Given the description of an element on the screen output the (x, y) to click on. 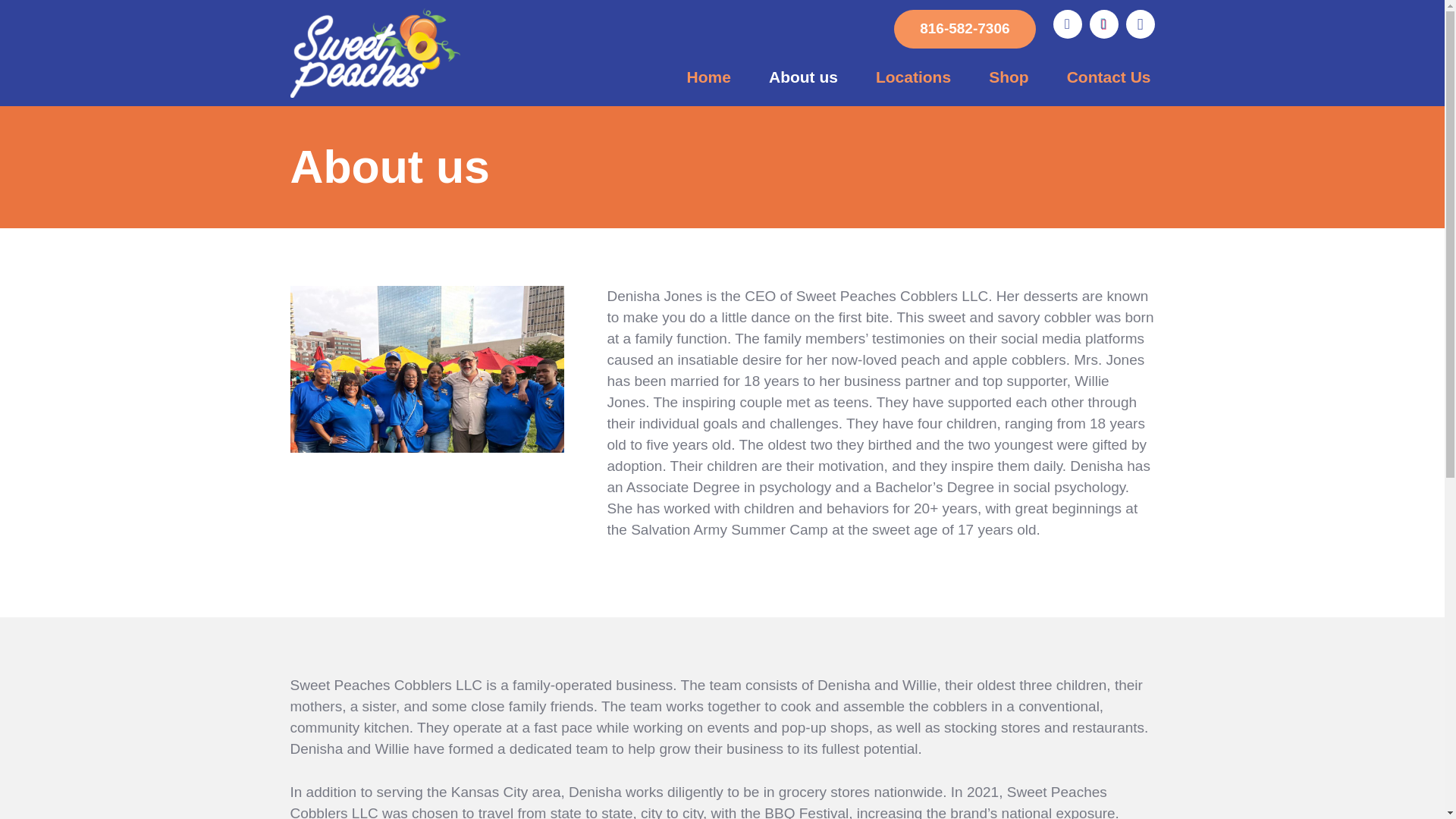
About us (803, 77)
816-582-7306 (964, 28)
Instagram (1139, 23)
Shop (1008, 77)
Facebook (1066, 23)
Contact Us (1109, 77)
Home (708, 77)
TikTok (1103, 23)
Locations (913, 77)
